Given the description of an element on the screen output the (x, y) to click on. 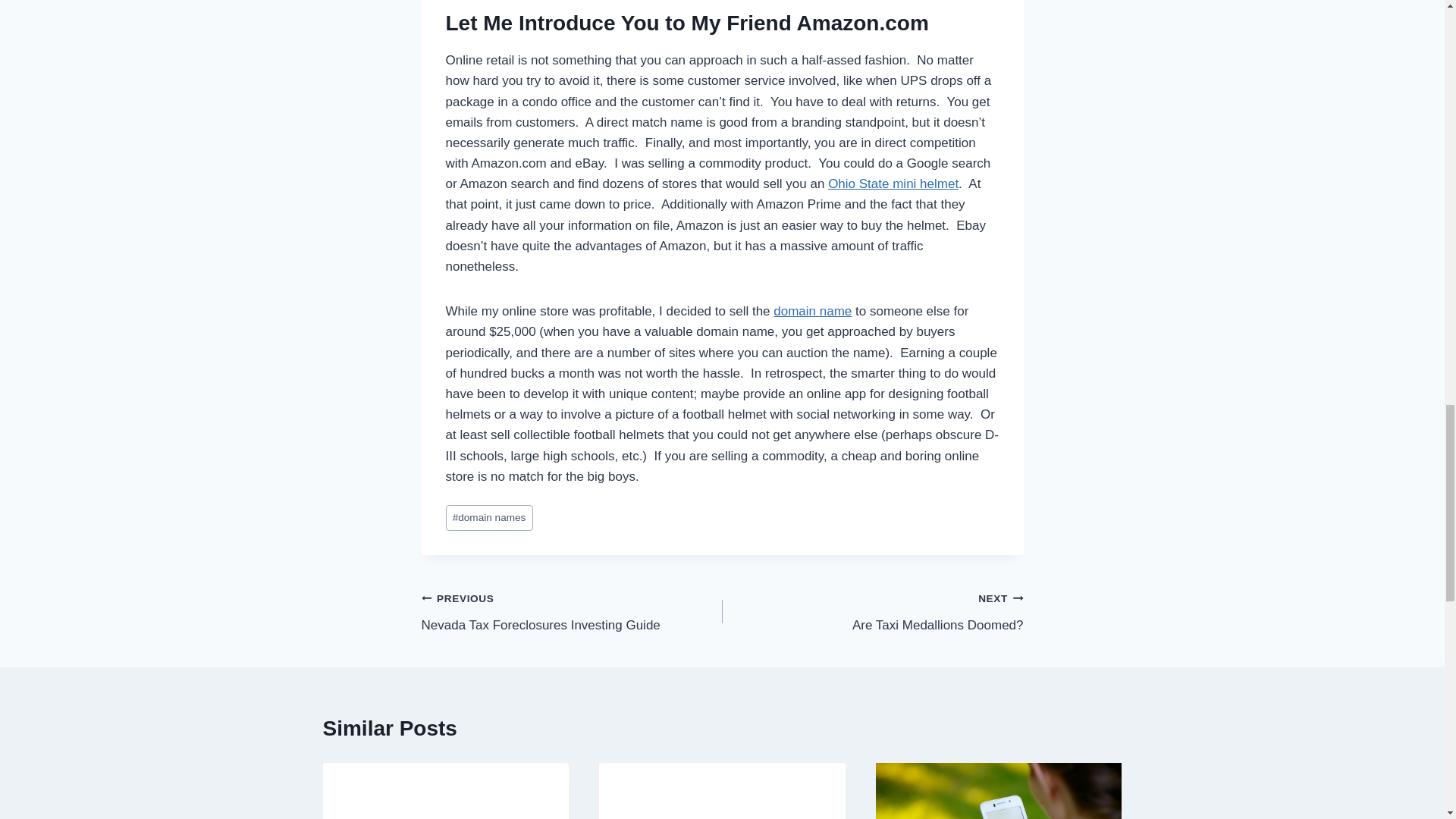
domain names (488, 518)
Ohio State mini helmet (893, 183)
domain name (572, 611)
